Given the description of an element on the screen output the (x, y) to click on. 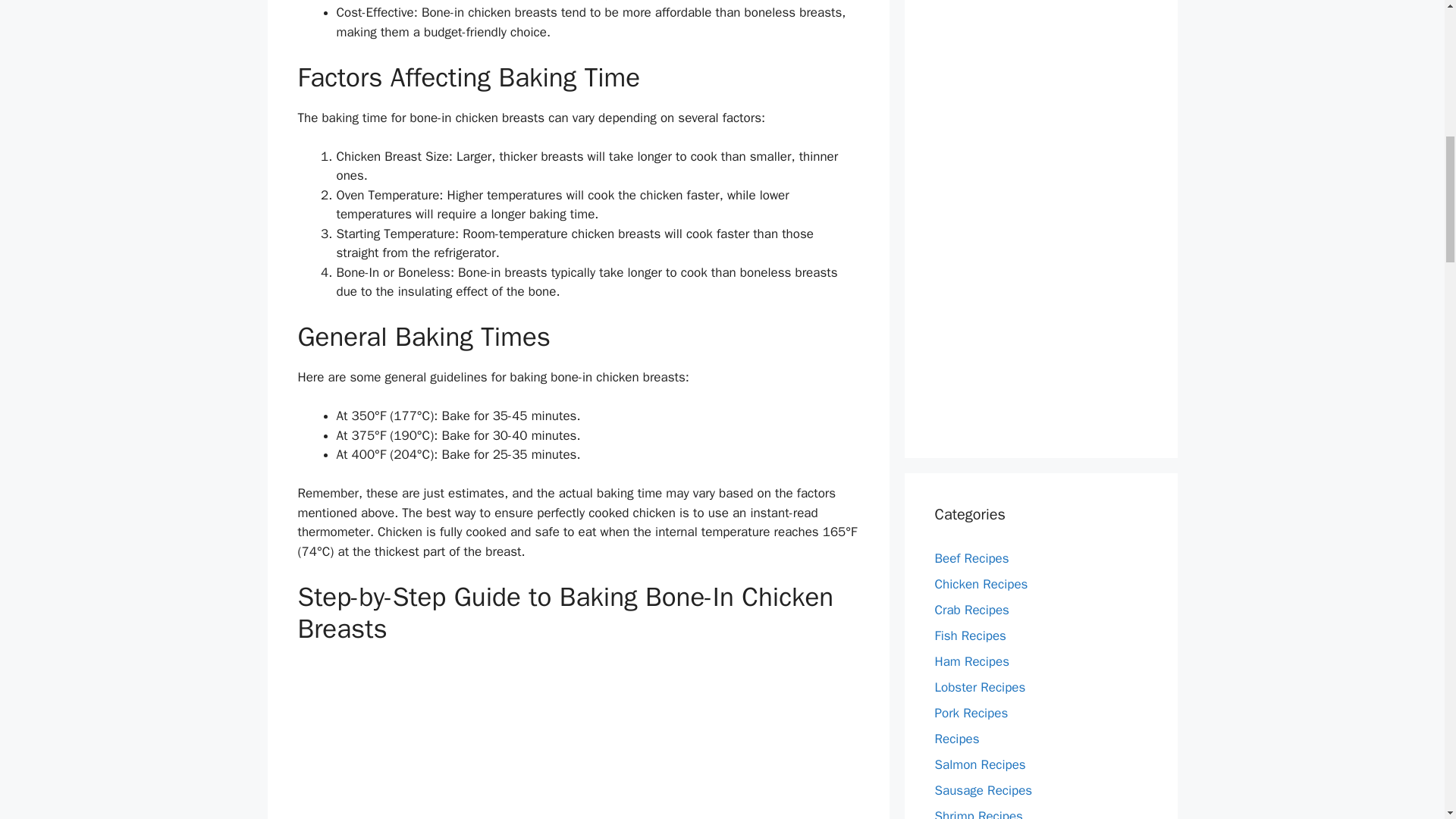
Ham Recipes (971, 661)
Recipes (956, 738)
Lobster Recipes (979, 687)
Crab Recipes (971, 609)
Advertisement (578, 739)
Sausage Recipes (983, 790)
Salmon Recipes (979, 764)
Shrimp Recipes (978, 813)
Fish Recipes (970, 635)
Chicken Recipes (980, 584)
Pork Recipes (970, 713)
Beef Recipes (971, 558)
